Given the description of an element on the screen output the (x, y) to click on. 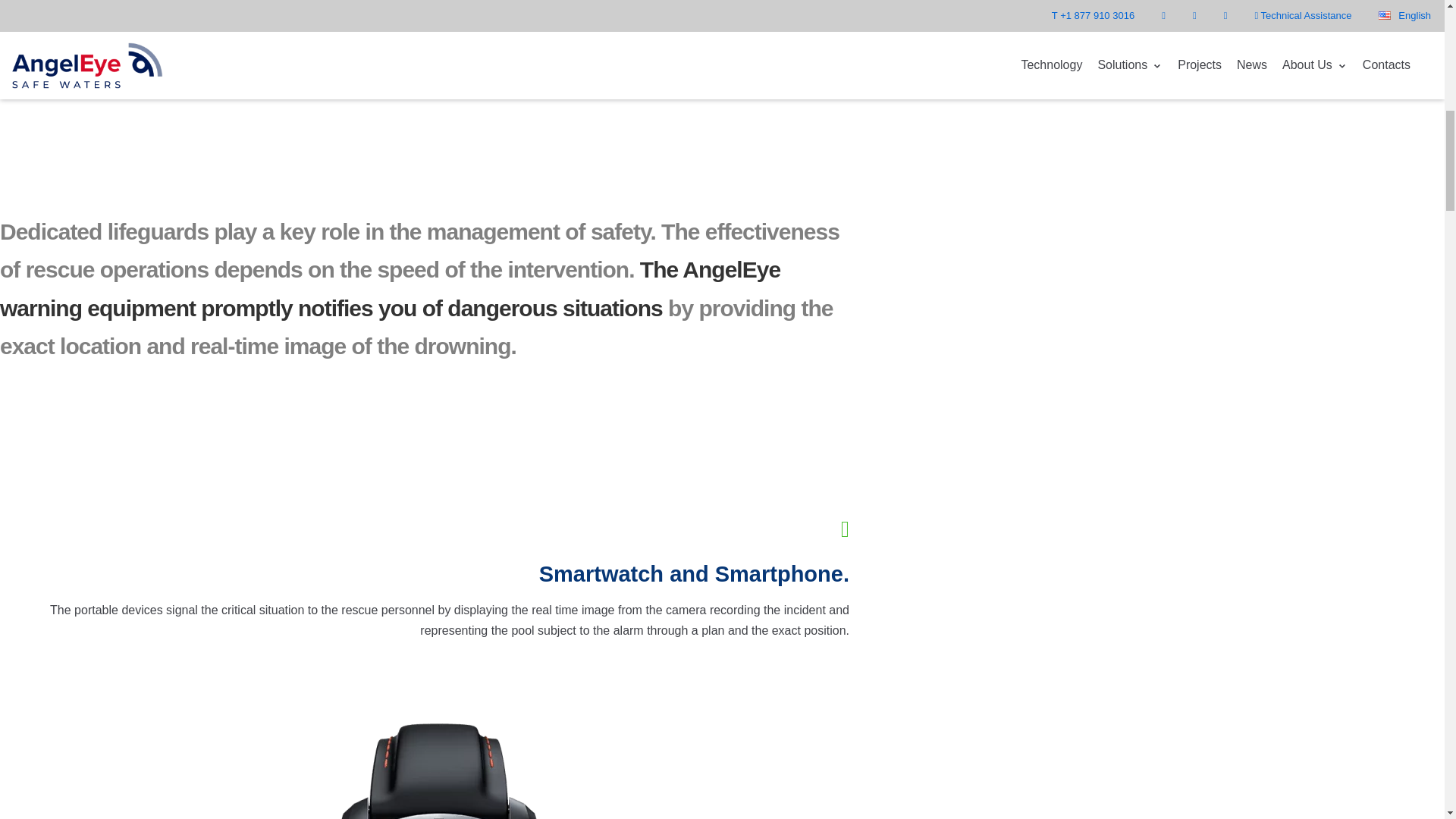
Alarm Devices 2 (439, 753)
Alarm Devices 1 (470, 10)
